Given the description of an element on the screen output the (x, y) to click on. 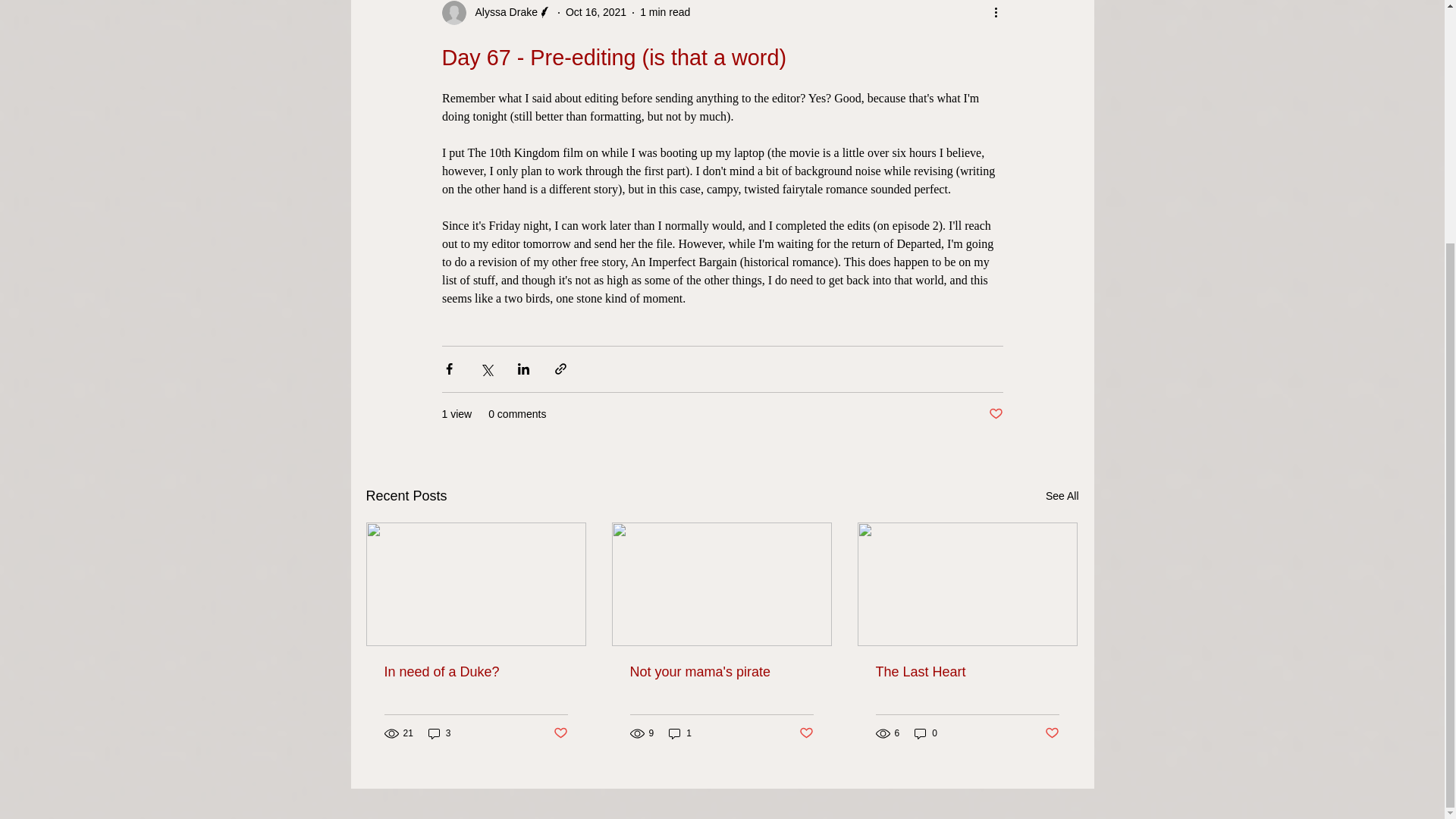
In need of a Duke? (475, 672)
Oct 16, 2021 (596, 11)
Post not marked as liked (995, 414)
0 (925, 733)
Post not marked as liked (806, 733)
Post not marked as liked (1052, 733)
See All (1061, 495)
1 min read (665, 11)
Not your mama's pirate (720, 672)
Alyssa Drake (501, 12)
The Last Heart (966, 672)
1 (679, 733)
Post not marked as liked (560, 733)
3 (439, 733)
